Given the description of an element on the screen output the (x, y) to click on. 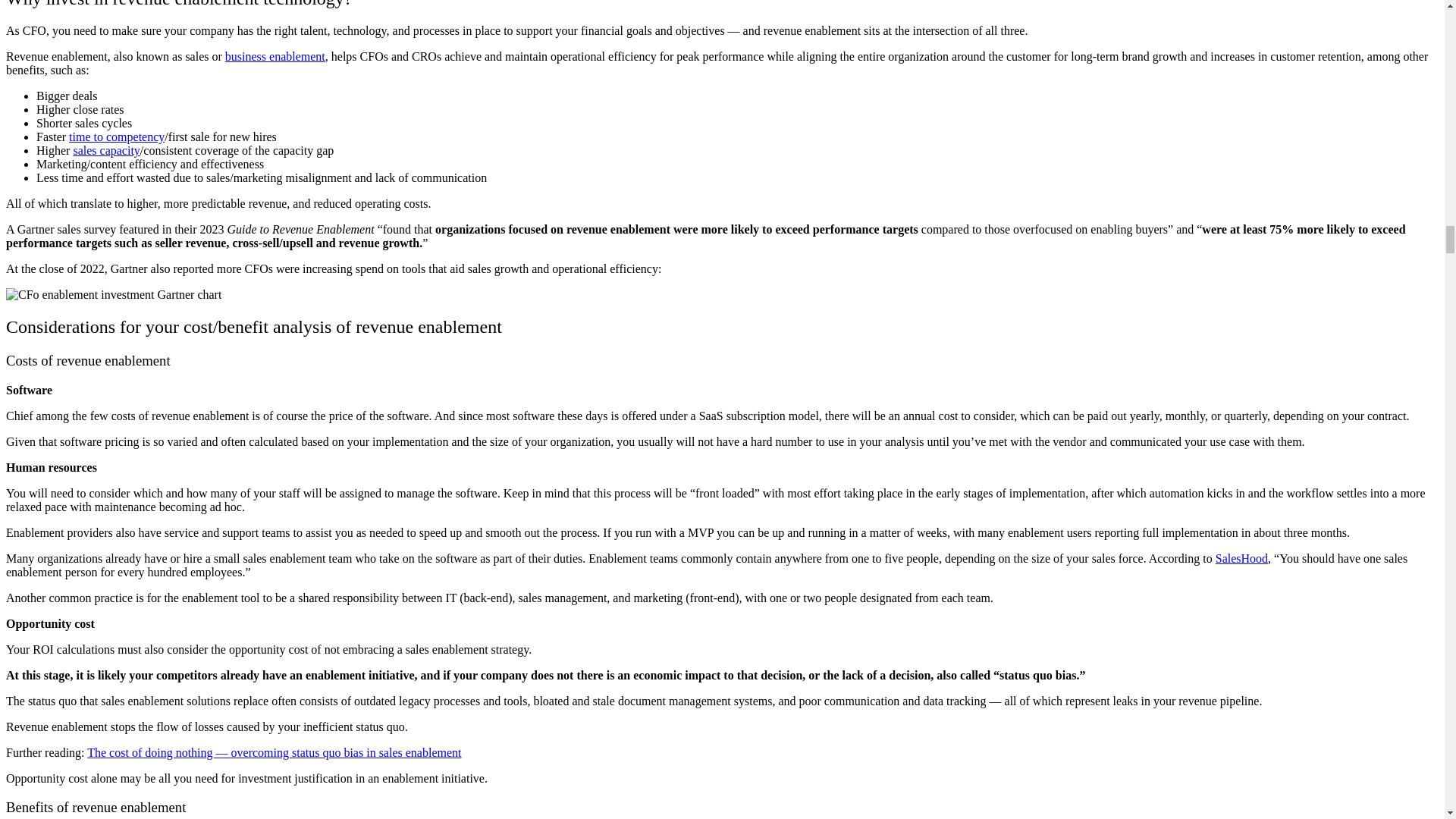
time to competency (116, 136)
sales capacity (105, 150)
SalesHood (1241, 558)
business enablement (274, 56)
